Given the description of an element on the screen output the (x, y) to click on. 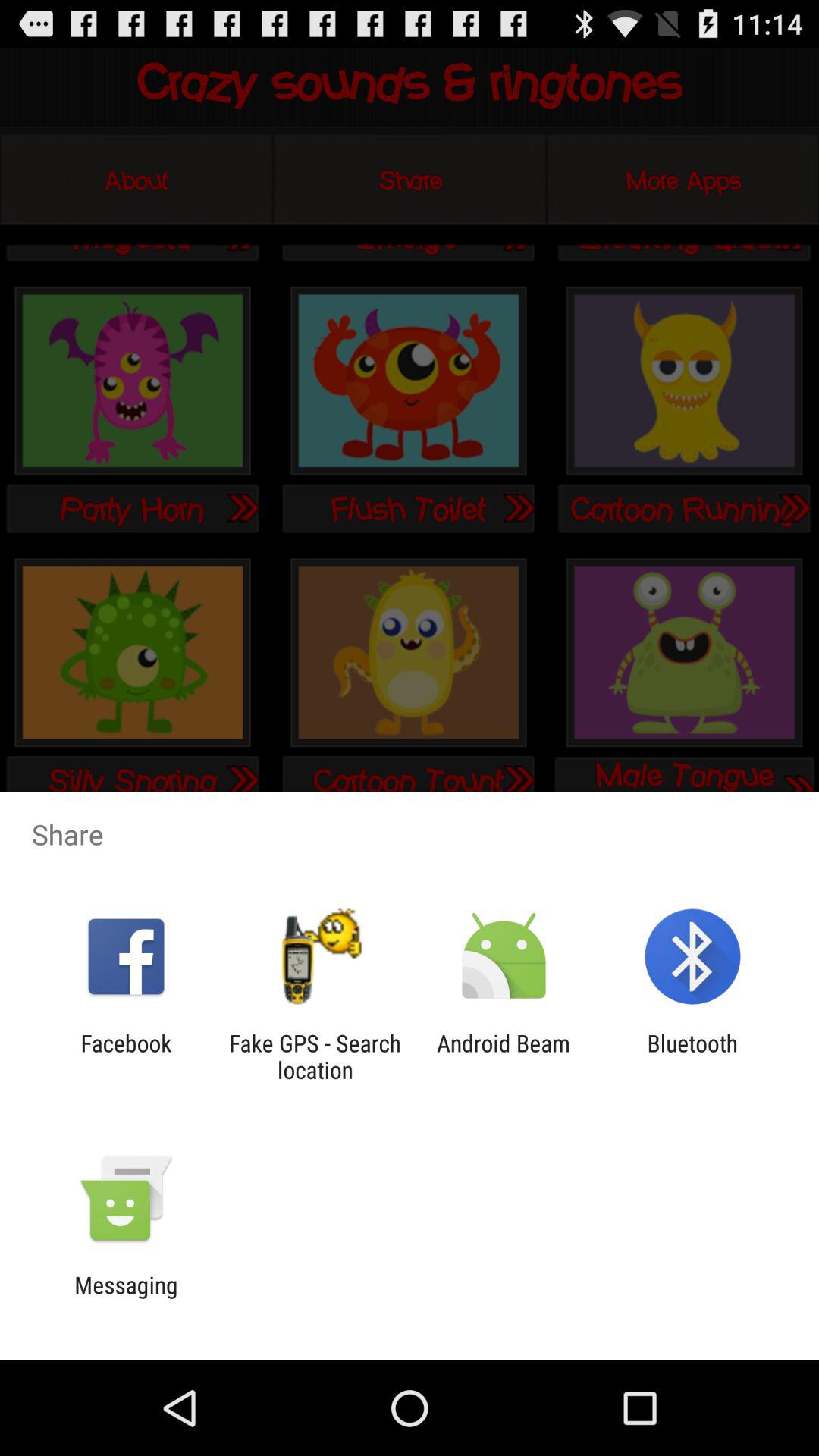
select item to the left of android beam item (314, 1056)
